Given the description of an element on the screen output the (x, y) to click on. 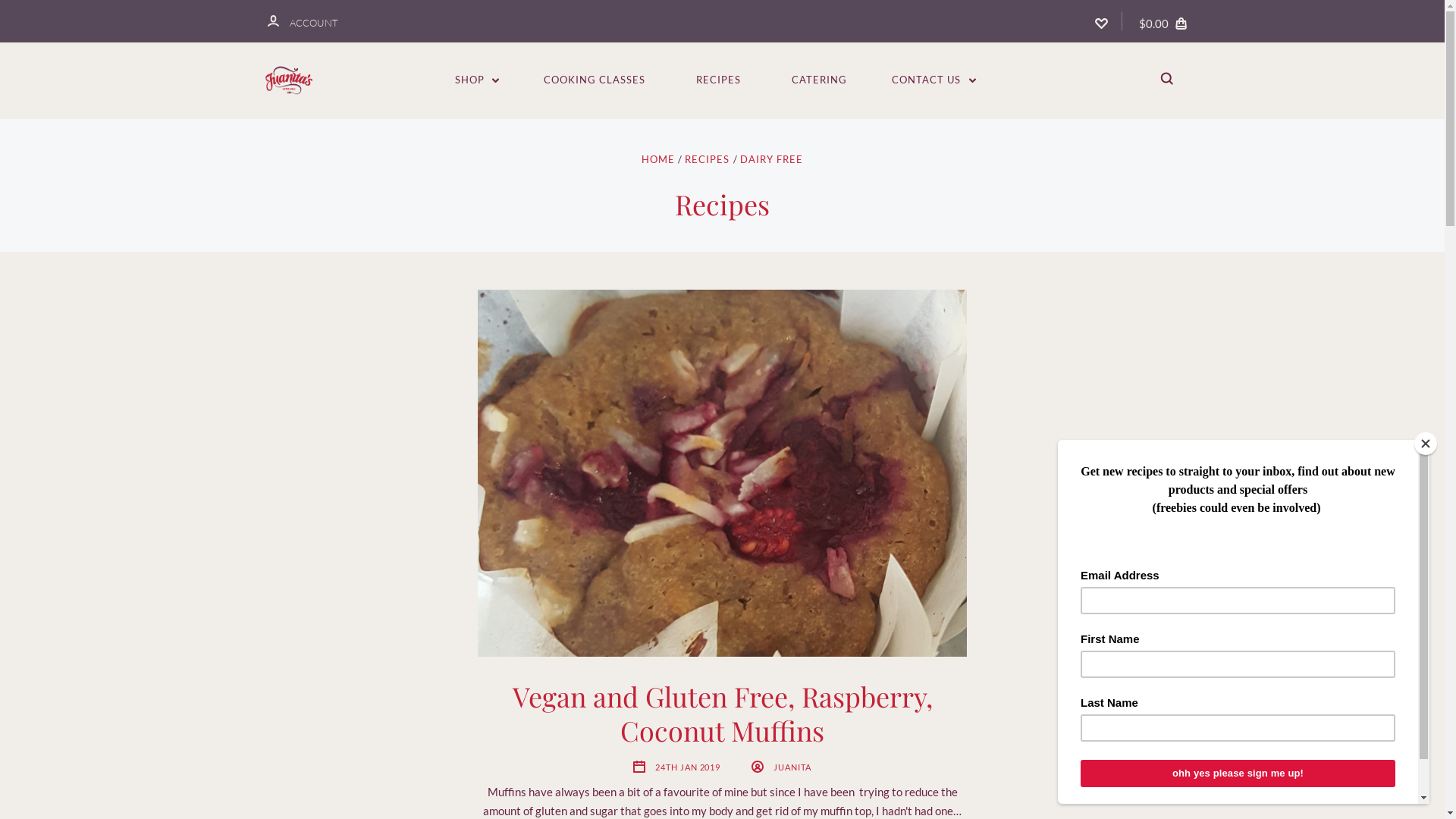
Vegan and Gluten Free, Raspberry, Coconut Muffins Element type: hover (721, 472)
$0.00 bag Element type: text (1165, 21)
SHOP DROPDOWN_ARROW Element type: text (476, 79)
ACCOUNT ACCOUNT Element type: text (301, 21)
HOME Element type: text (657, 159)
CATERING Element type: text (819, 79)
RECIPES Element type: text (718, 79)
COOKING CLASSES Element type: text (594, 79)
RECIPES Element type: text (706, 159)
CONTACT US DROPDOWN_ARROW Element type: text (933, 79)
search_icon Element type: text (1166, 79)
Vegan and Gluten Free, Raspberry, Coconut Muffins Element type: text (722, 712)
wishlist Element type: text (1101, 21)
DAIRY FREE Element type: text (771, 159)
